Given the description of an element on the screen output the (x, y) to click on. 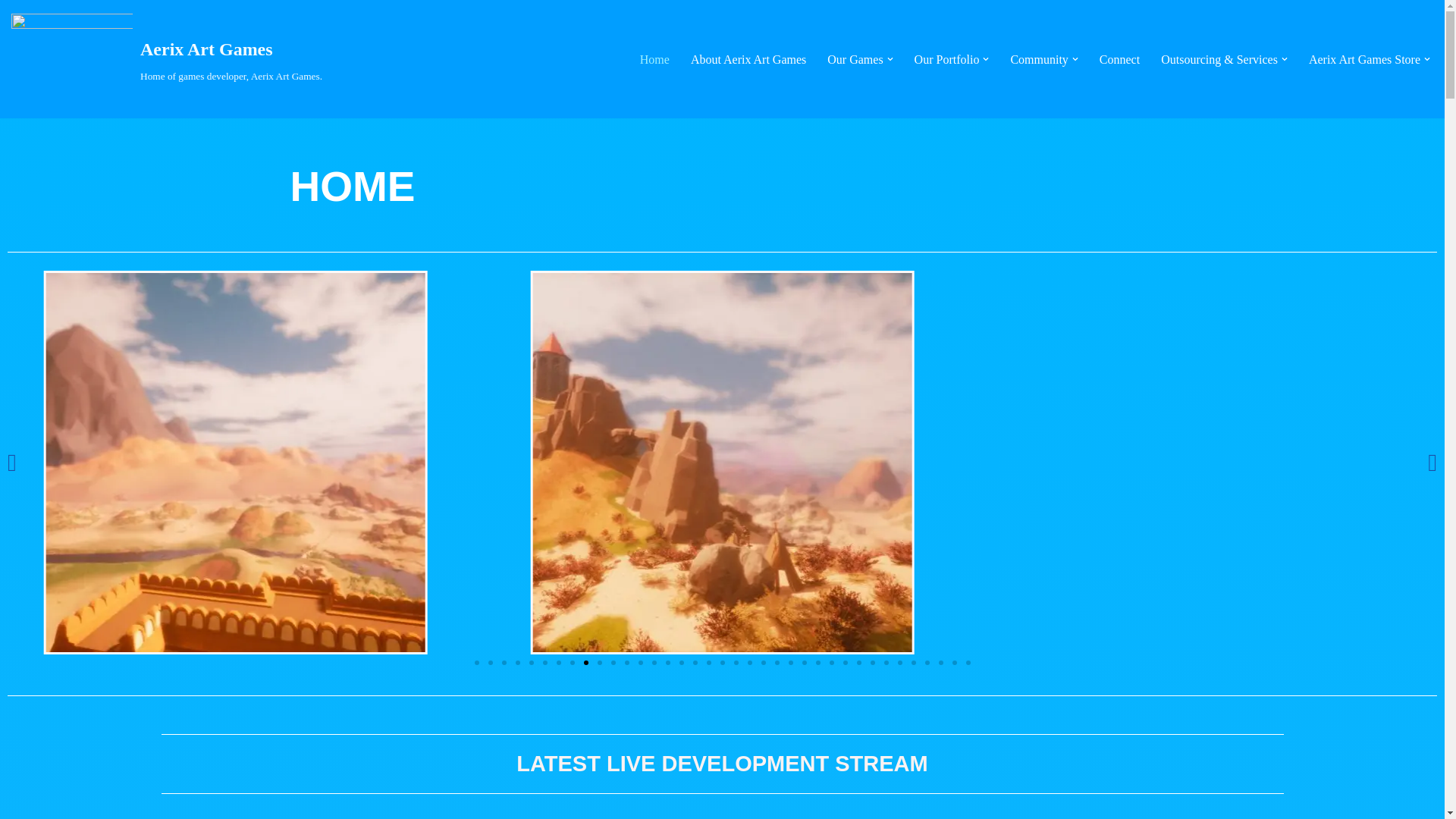
Our Portfolio (946, 59)
Skip to content (11, 31)
Home (166, 58)
Our Games (654, 59)
Aerix Art Games Store (854, 59)
Connect (1364, 59)
About Aerix Art Games (1119, 59)
Community (748, 59)
